Given the description of an element on the screen output the (x, y) to click on. 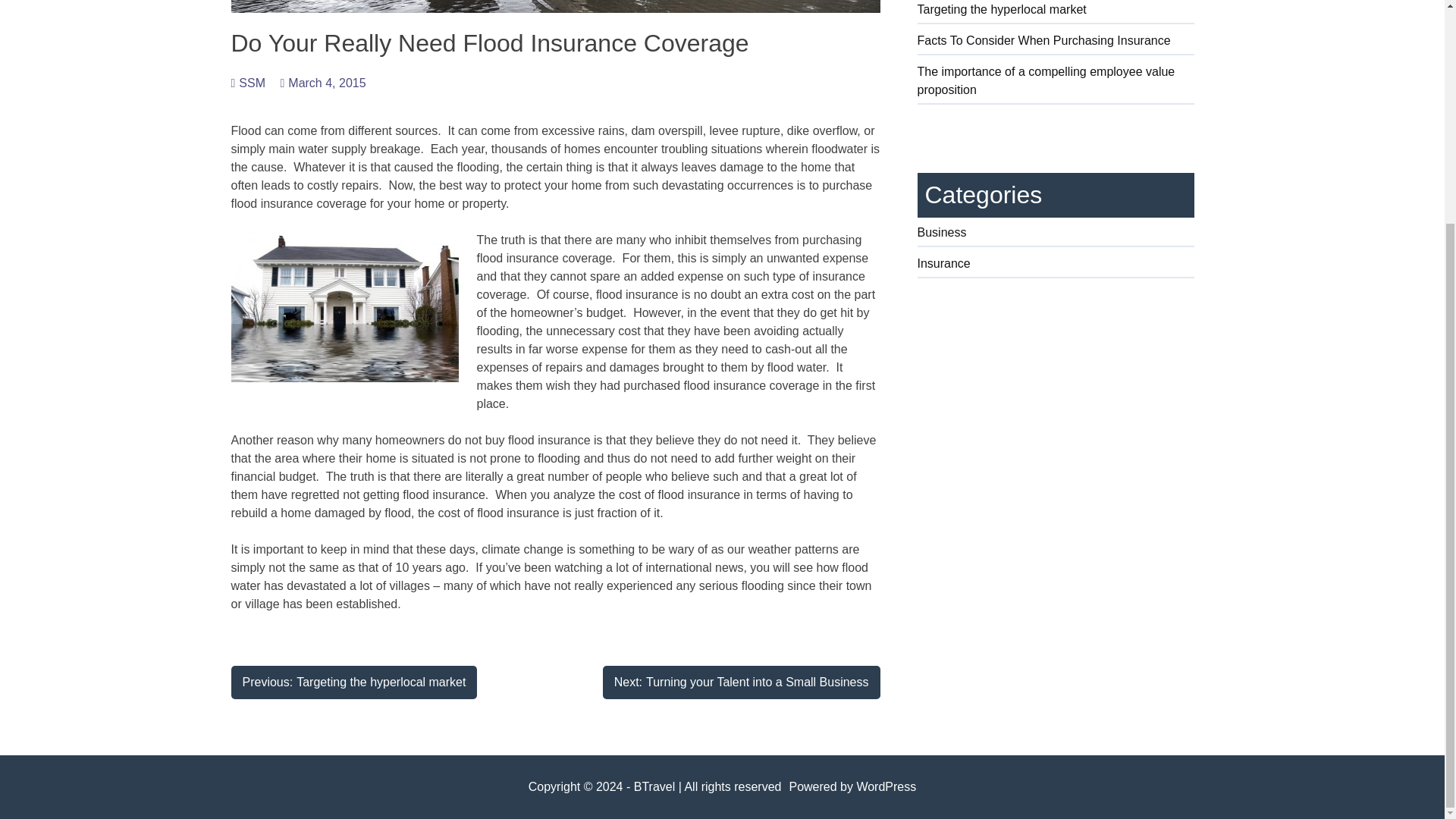
Targeting the hyperlocal market (1056, 12)
Business (1056, 235)
SSM (741, 682)
March 4, 2015 (353, 682)
The importance of a compelling employee value proposition (247, 82)
Insurance (322, 82)
Facts To Consider When Purchasing Insurance (1056, 83)
Powered by WordPress (1056, 266)
